Given the description of an element on the screen output the (x, y) to click on. 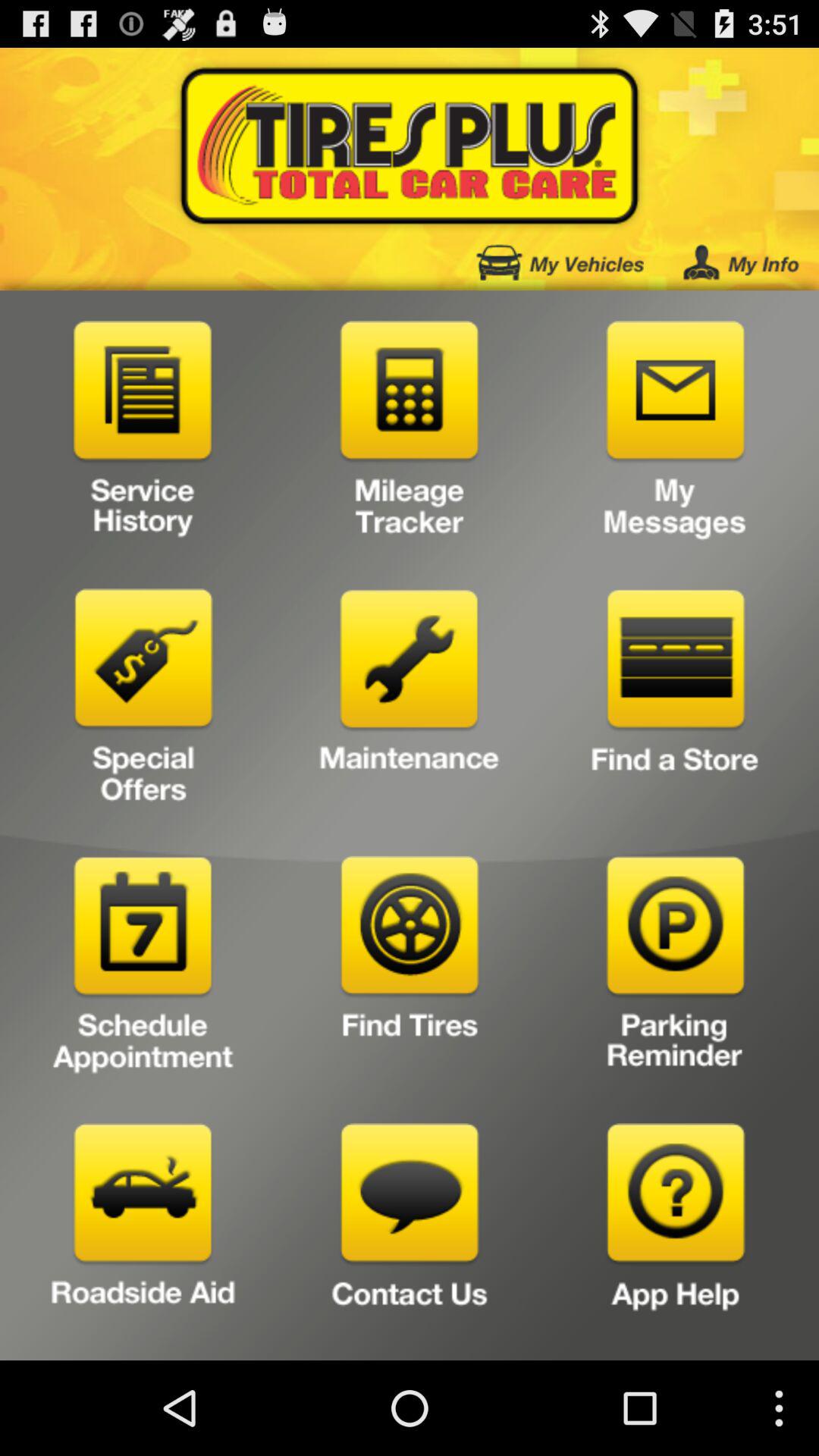
find tires button (409, 968)
